Given the description of an element on the screen output the (x, y) to click on. 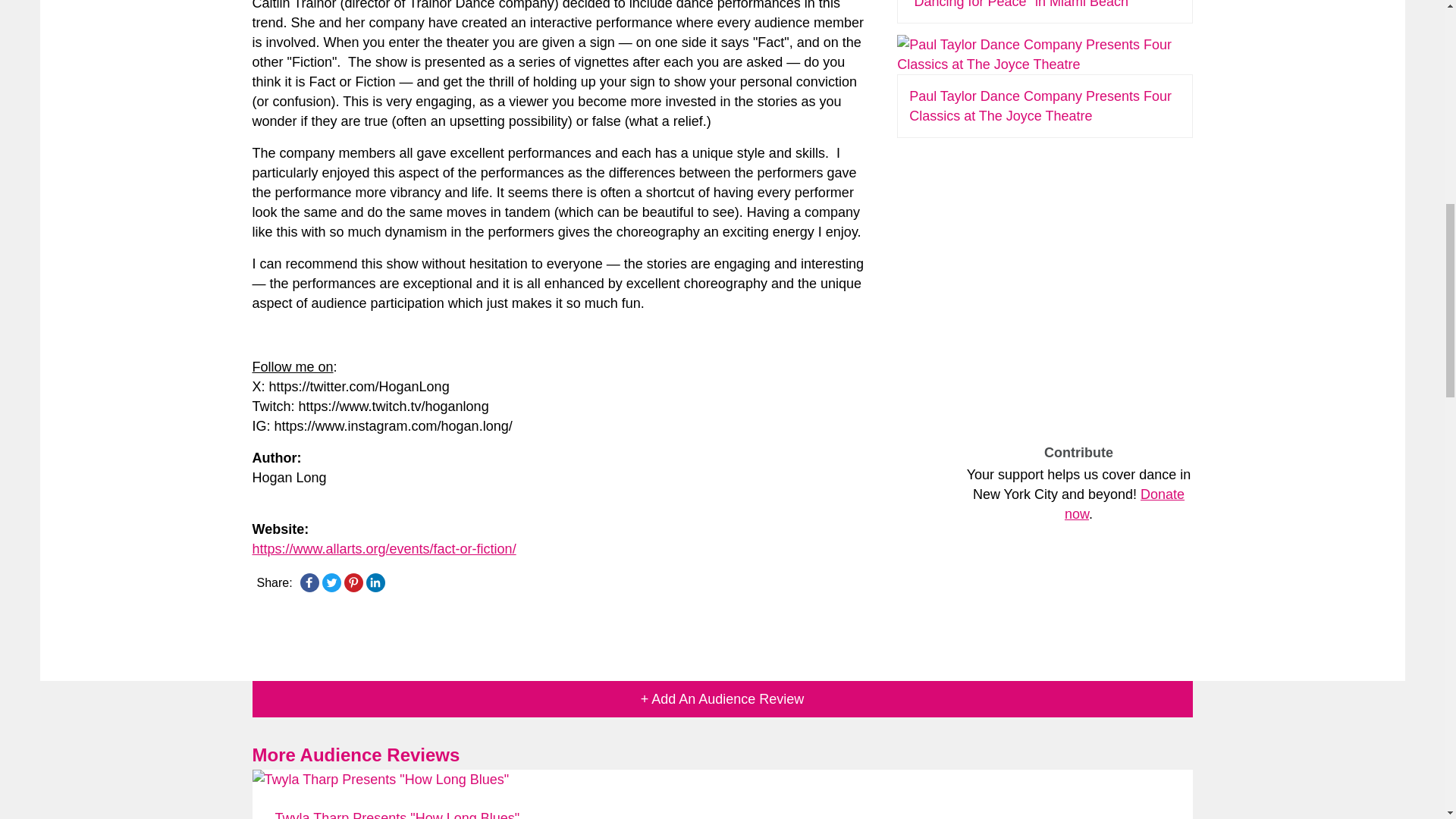
Facebook (309, 581)
LinkedIn (375, 581)
Twitter (331, 581)
Pinterest (353, 581)
